Given the description of an element on the screen output the (x, y) to click on. 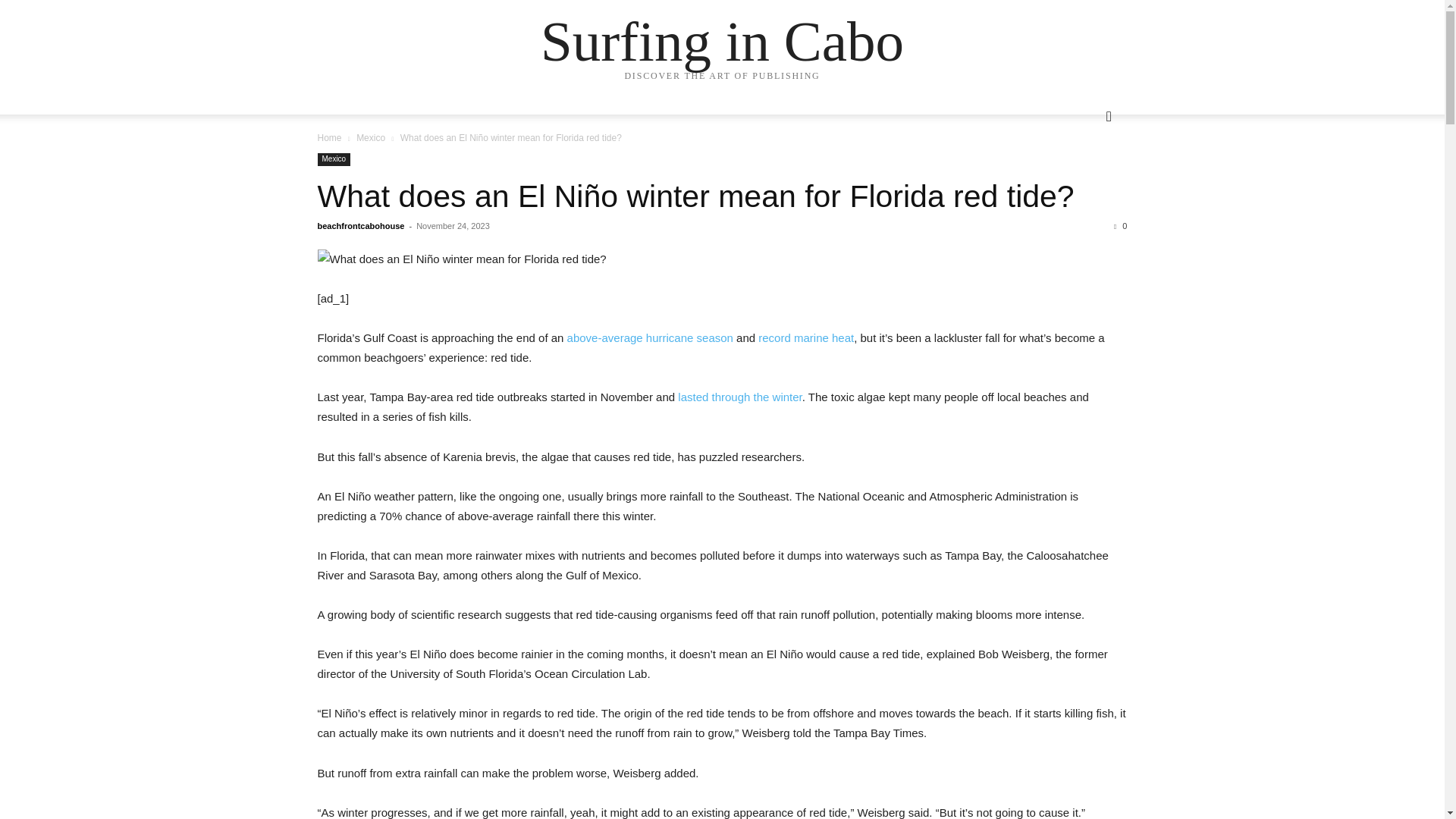
above-average hurricane season (650, 337)
record marine heat (805, 337)
Mexico (370, 137)
Search (1085, 177)
Home (328, 137)
View all posts in Mexico (370, 137)
Surfing in Cabo (722, 41)
Mexico (333, 159)
0 (1119, 225)
lasted through the winter (740, 396)
